Given the description of an element on the screen output the (x, y) to click on. 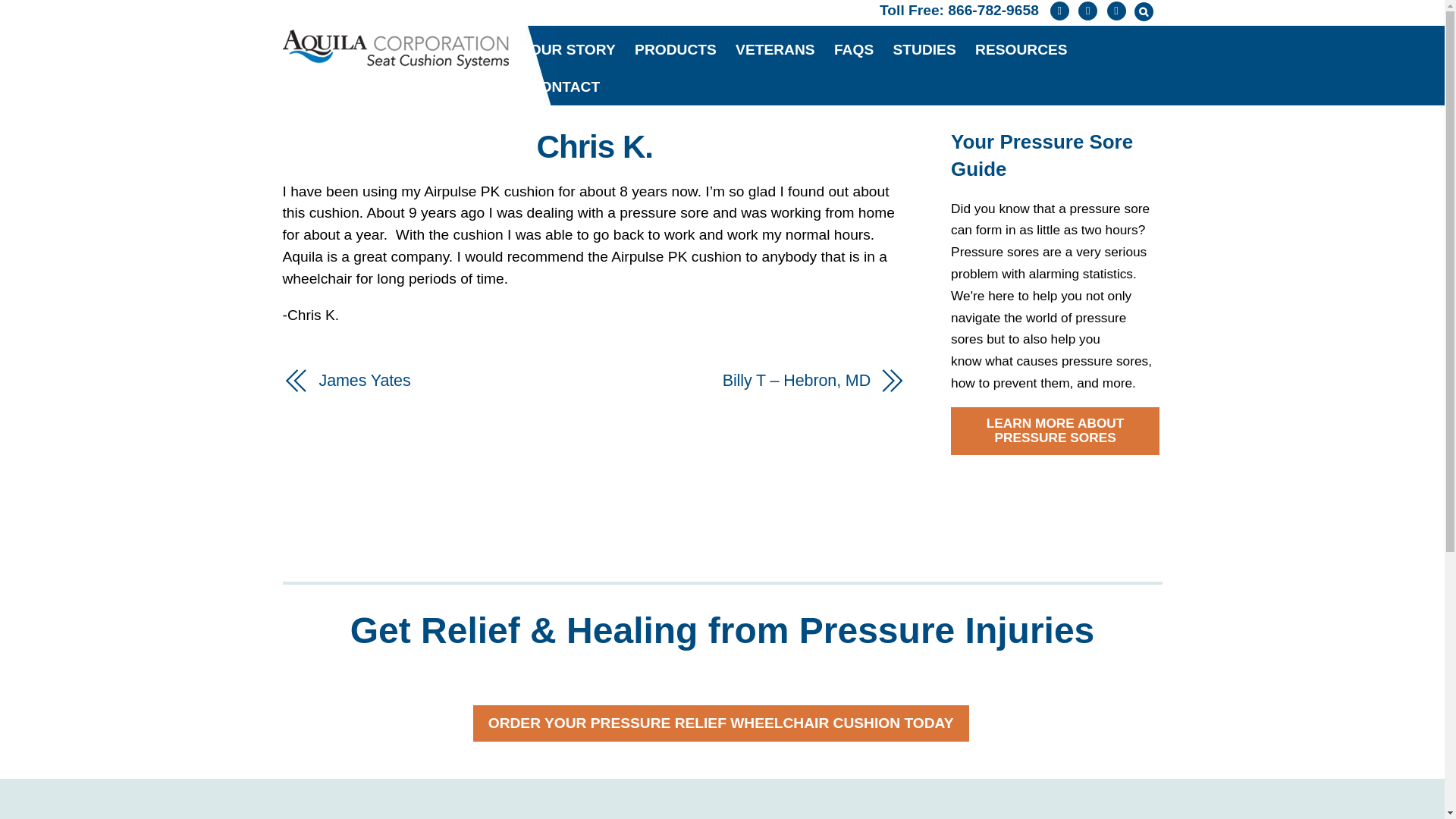
VETERANS (775, 49)
James Yates (446, 381)
ORDER YOUR PRESSURE RELIEF WHEELCHAIR CUSHION TODAY (721, 723)
CONTACT (564, 87)
RESOURCES (1021, 49)
STUDIES (924, 49)
Search (1142, 11)
Aquila Corporation (395, 59)
OUR STORY (572, 49)
Aquila Corporation (395, 48)
LEARN MORE ABOUT PRESSURE SORES (1054, 430)
866-782-9658 (993, 10)
FAQS (853, 49)
PRODUCTS (675, 49)
